Given the description of an element on the screen output the (x, y) to click on. 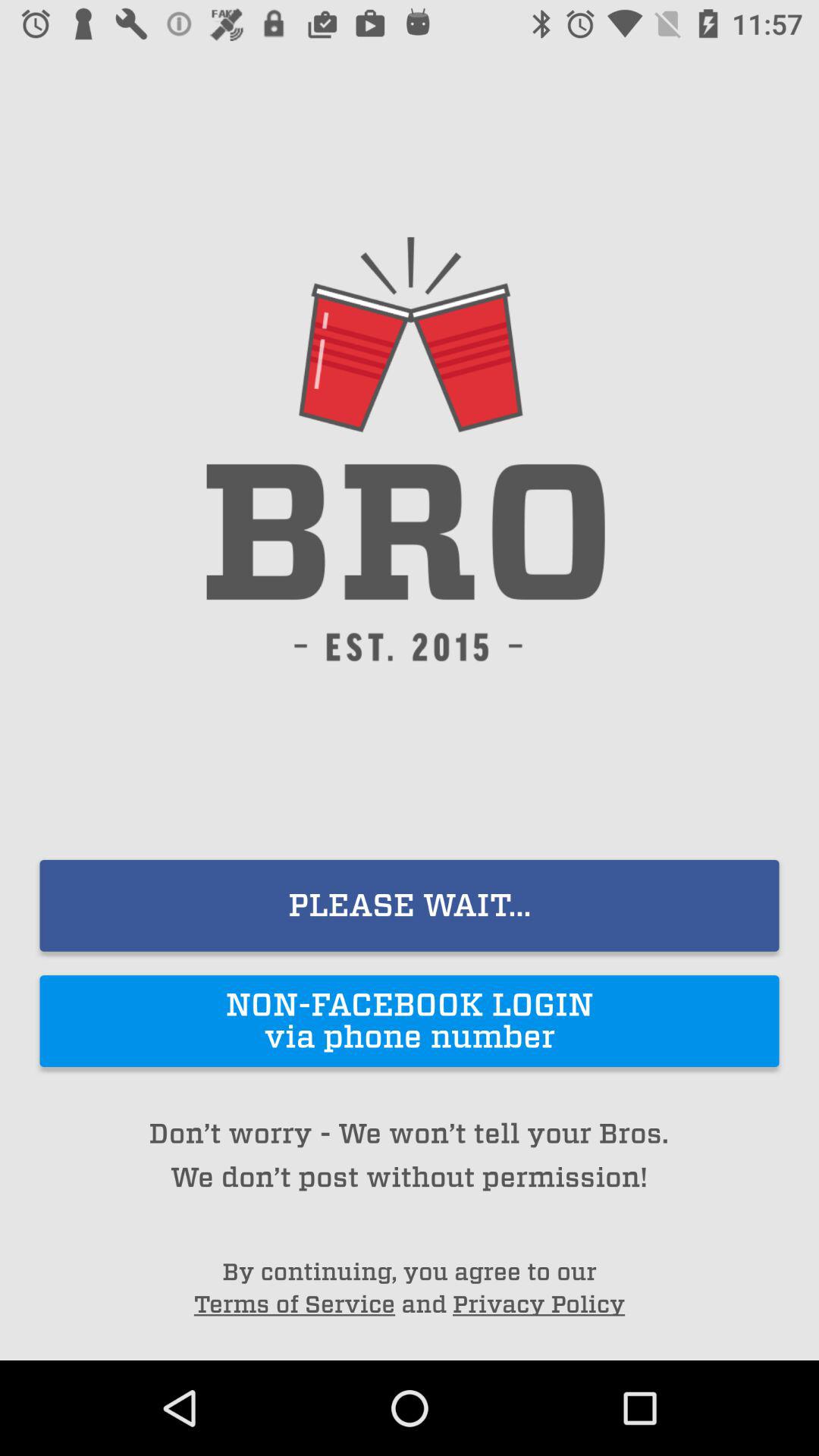
turn on the privacy policy (538, 1304)
